Given the description of an element on the screen output the (x, y) to click on. 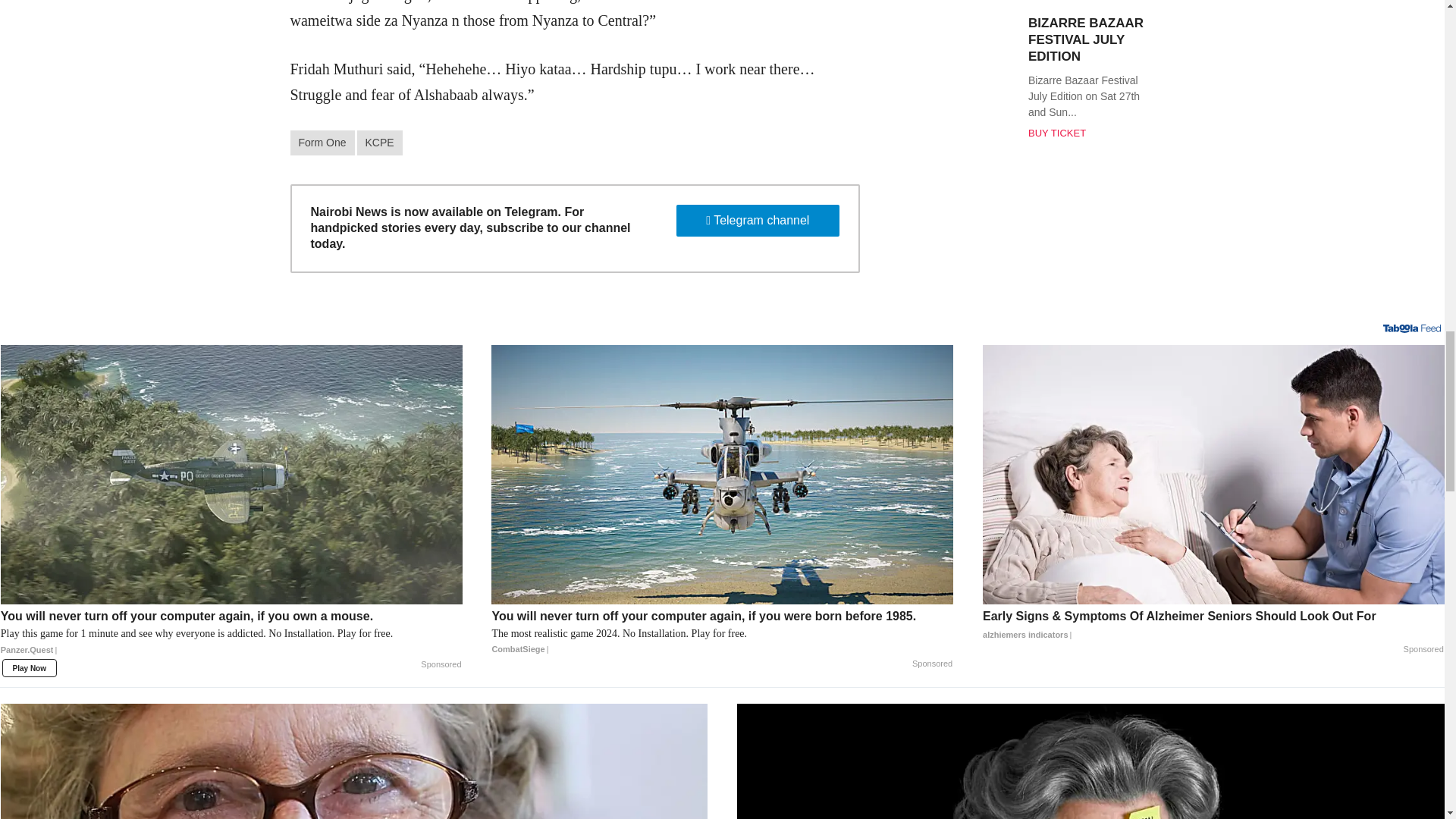
Form One (321, 142)
KCPE (379, 142)
